Given the description of an element on the screen output the (x, y) to click on. 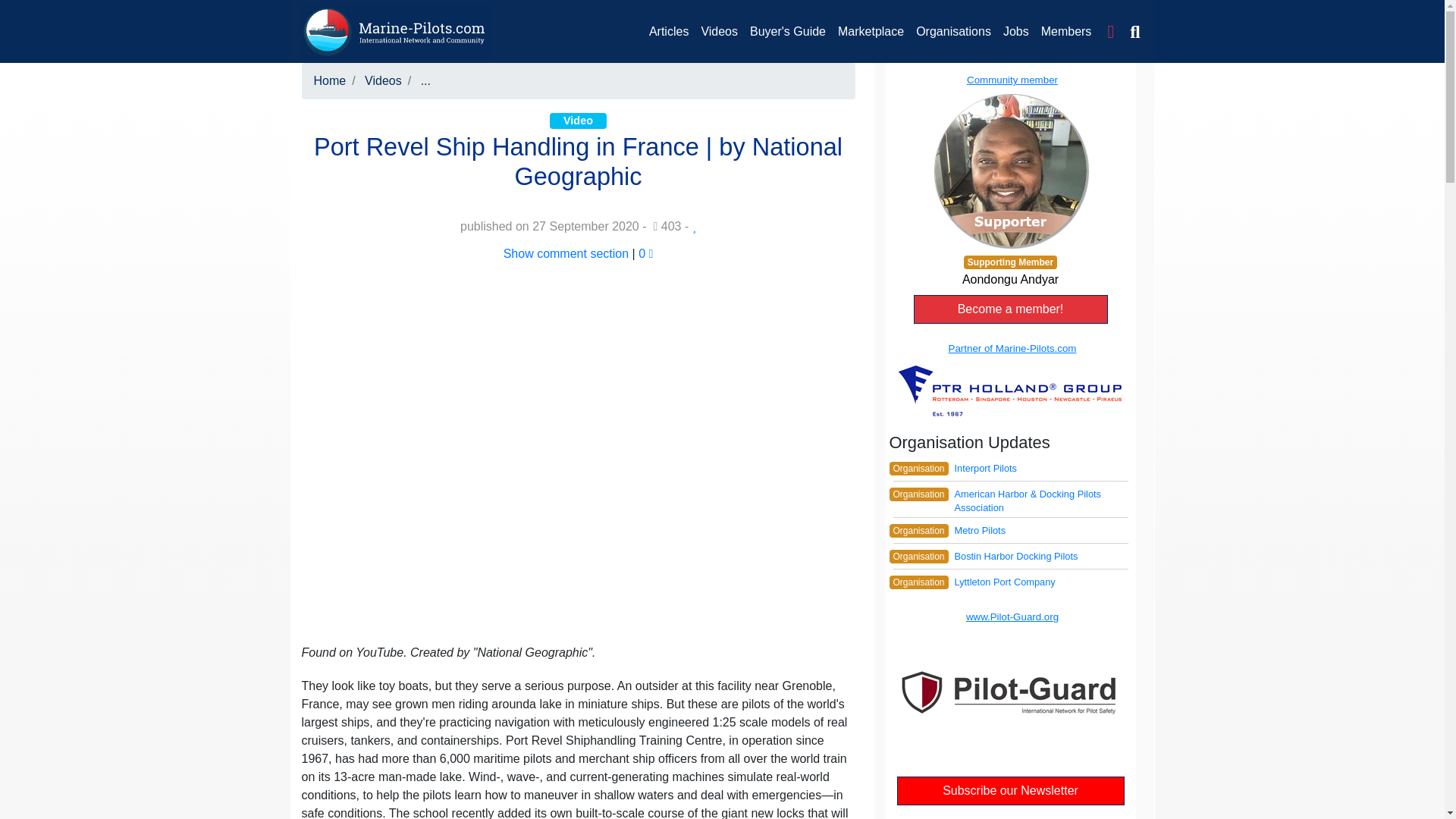
Partner of Marine-Pilots.com (1009, 379)
Marketplace (870, 31)
Interport Pilots (984, 468)
Videos (383, 80)
403 (666, 226)
Articles (668, 31)
Metro Pilots (979, 530)
Jobs (1016, 31)
Community member (1009, 159)
all-time page views (666, 226)
Videos (719, 31)
Members (1066, 31)
Show comment section (565, 253)
Buyer's Guide (787, 31)
Home (330, 80)
